Given the description of an element on the screen output the (x, y) to click on. 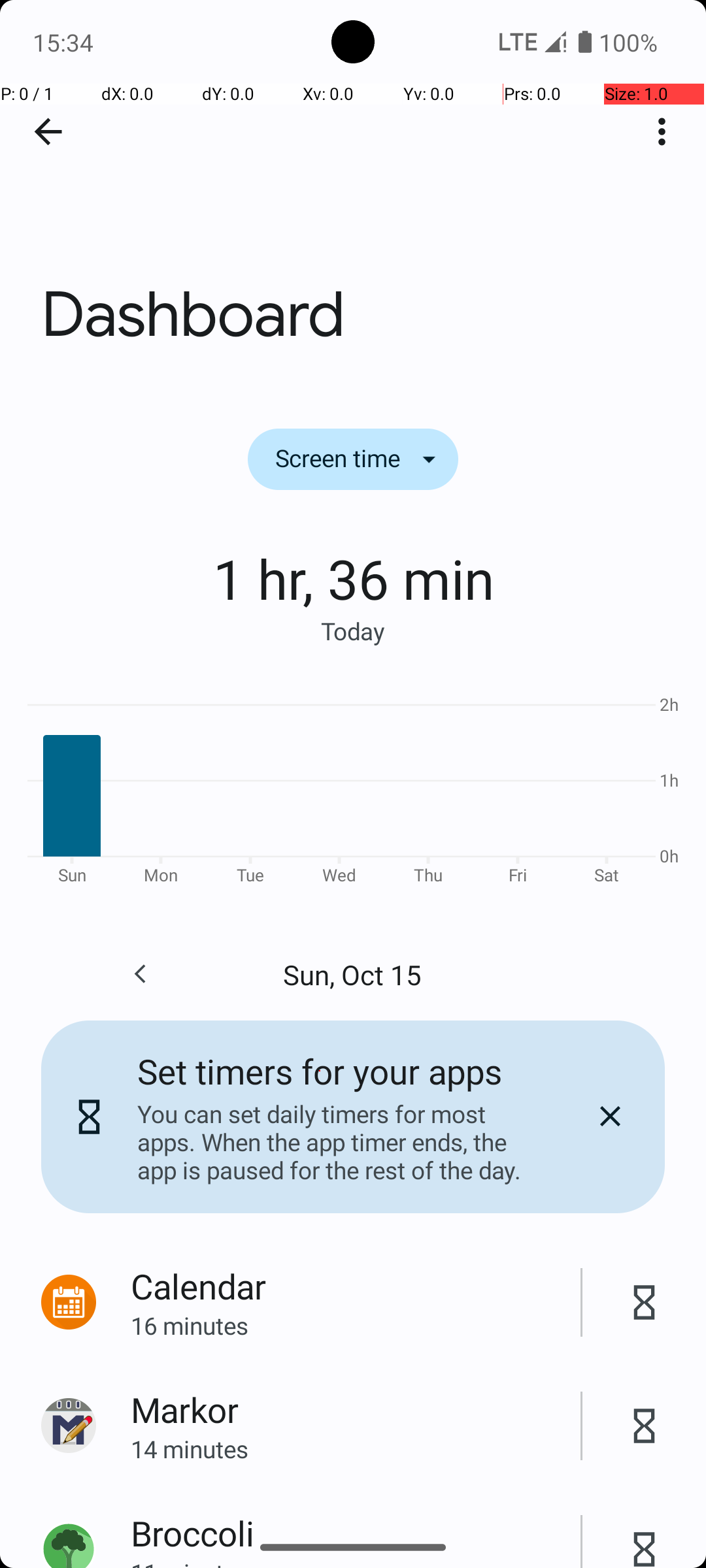
Dashboard Element type: android.widget.FrameLayout (353, 195)
1 hr, 36 min Element type: android.widget.TextView (353, 577)
Set timers for your apps Element type: android.widget.TextView (319, 1070)
You can set daily timers for most apps. When the app timer ends, the app is paused for the rest of the day. Element type: android.widget.TextView (339, 1141)
Dismiss card Element type: android.widget.Button (609, 1116)
16 minutes Element type: android.widget.TextView (355, 1325)
No timer set for Calendar Element type: android.widget.FrameLayout (644, 1302)
14 minutes Element type: android.widget.TextView (355, 1448)
No timer set for Markor Element type: android.widget.FrameLayout (644, 1425)
11 minutes Element type: android.widget.TextView (355, 1562)
No timer set for Broccoli Element type: android.widget.FrameLayout (644, 1534)
Bar Chart. Showing Phone usage data with 7 data points. Element type: android.view.ViewGroup (353, 787)
